Given the description of an element on the screen output the (x, y) to click on. 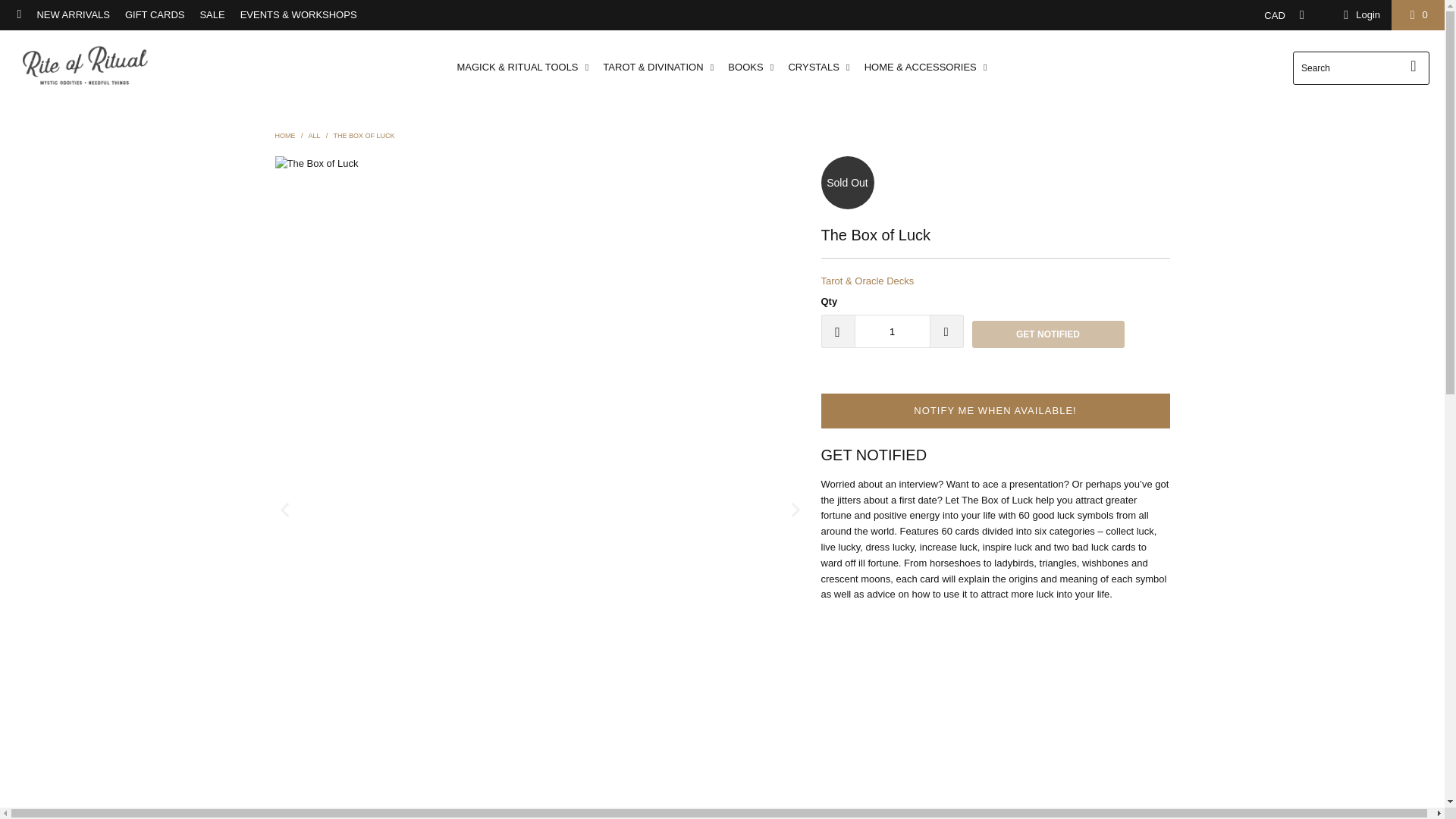
ALL (314, 135)
Rite of Ritual on Instagram (17, 14)
My Account  (1359, 15)
1 (891, 331)
Rite of Ritual (285, 135)
Rite of Ritual (84, 67)
